Given the description of an element on the screen output the (x, y) to click on. 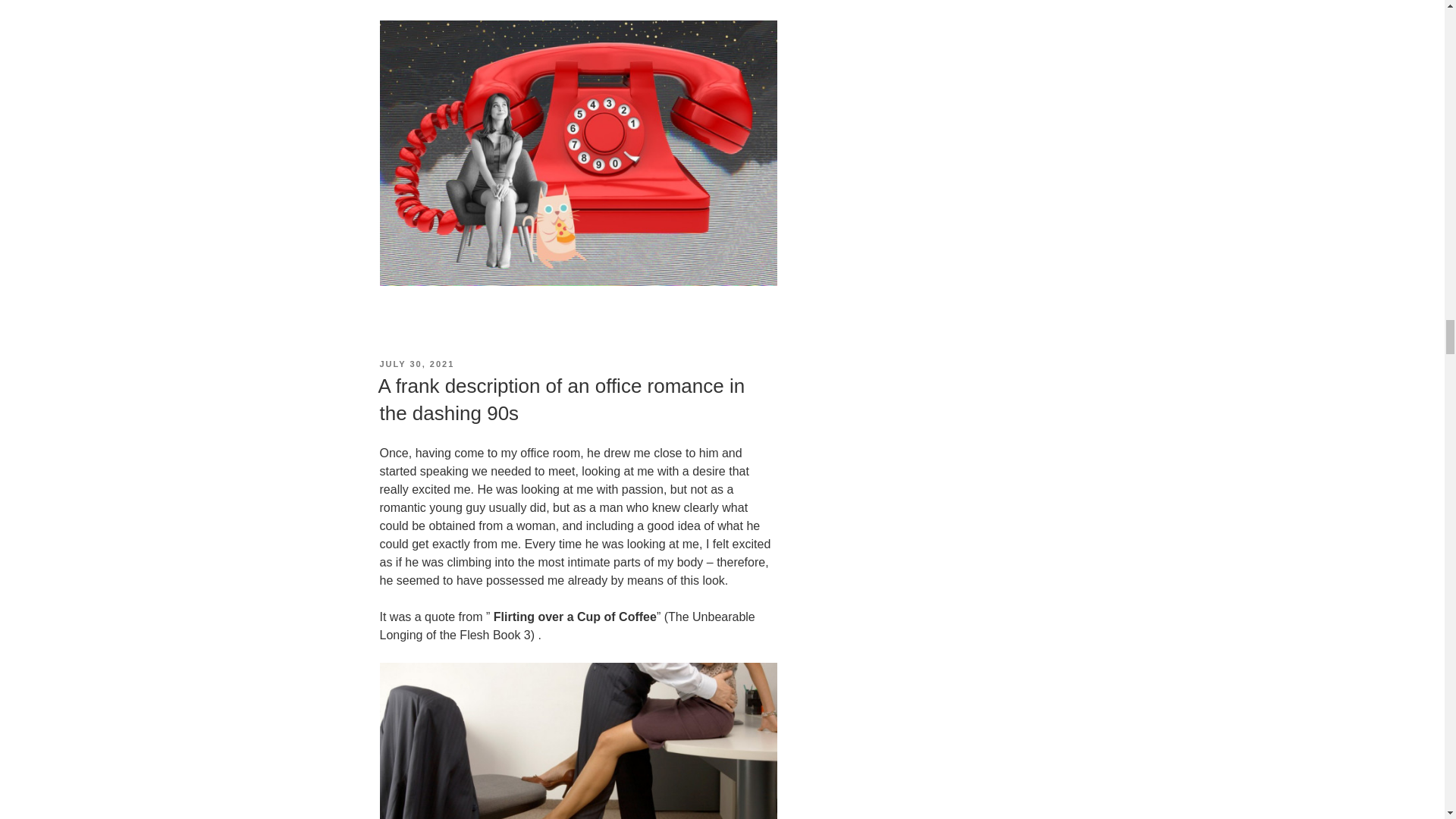
A frank description of an office romance in the dashing 90s (560, 399)
JULY 30, 2021 (416, 363)
